Given the description of an element on the screen output the (x, y) to click on. 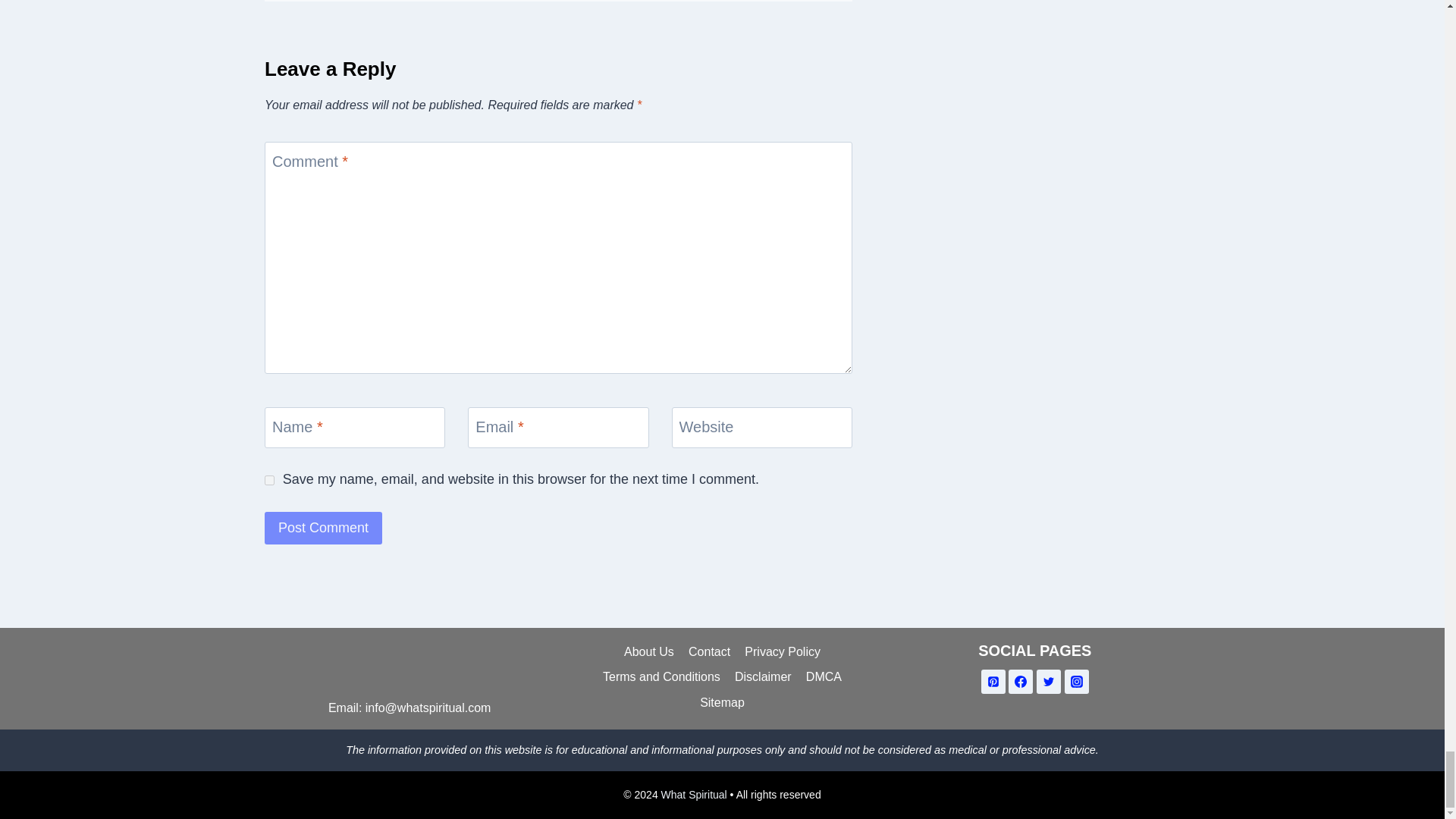
Post Comment (322, 527)
yes (269, 480)
